Given the description of an element on the screen output the (x, y) to click on. 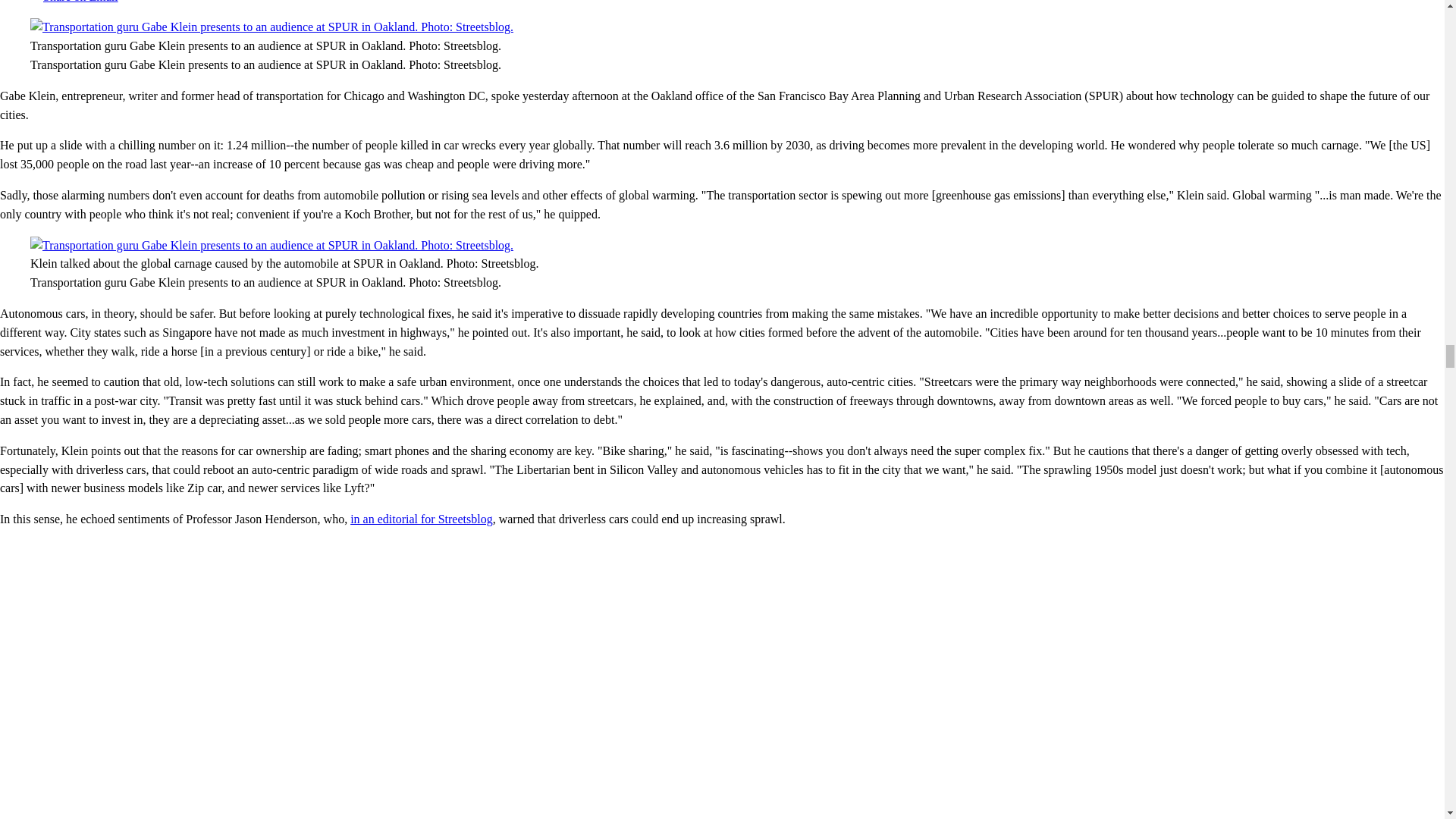
in an editorial for Streetsblog (421, 518)
Share on Email (73, 1)
